Given the description of an element on the screen output the (x, y) to click on. 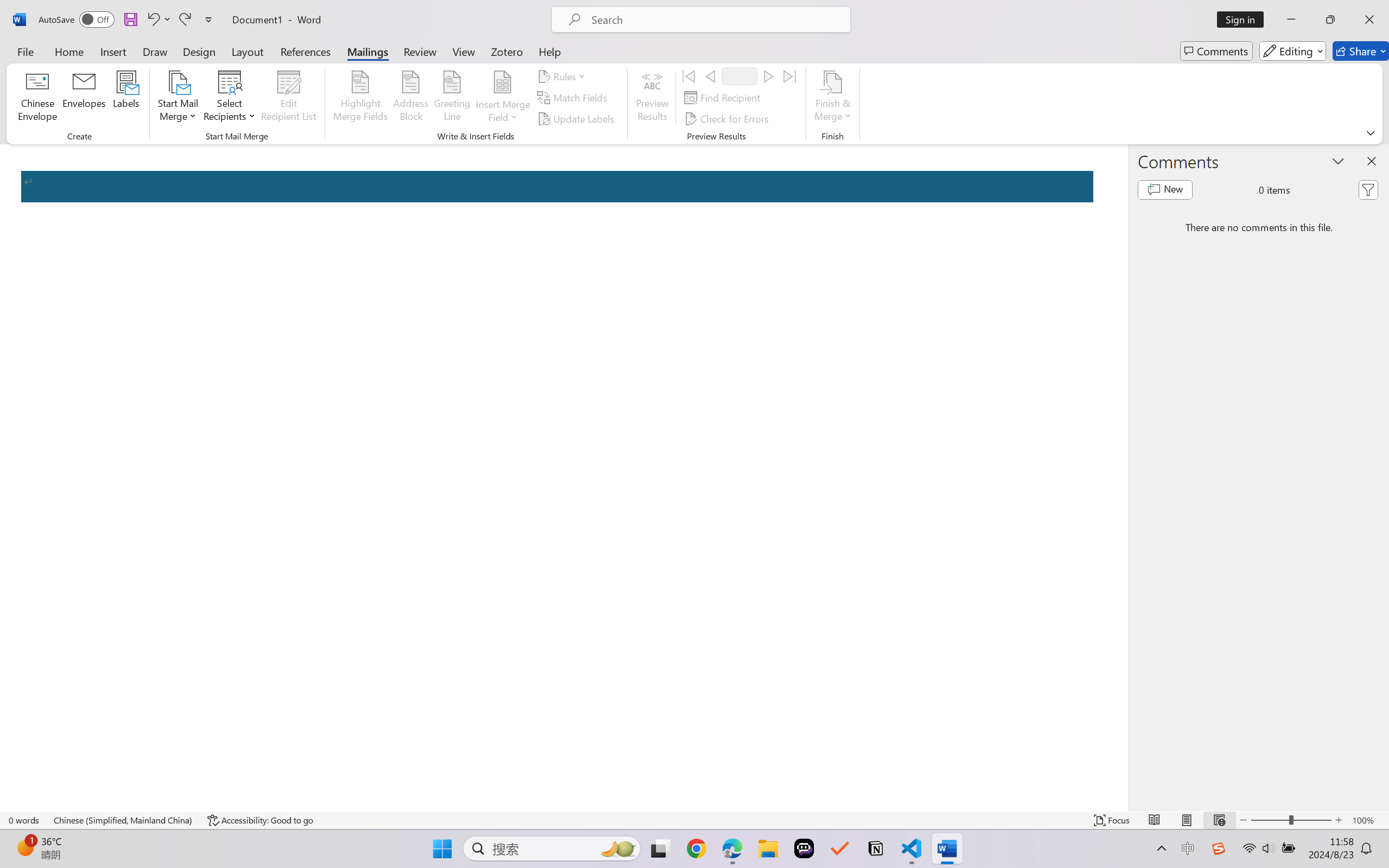
Record (739, 76)
Insert Merge Field (502, 81)
Greeting Line... (451, 97)
Preview Results (652, 97)
Edit Recipient List... (288, 97)
Next (768, 75)
Undo Apply Quick Style Set (152, 19)
